Given the description of an element on the screen output the (x, y) to click on. 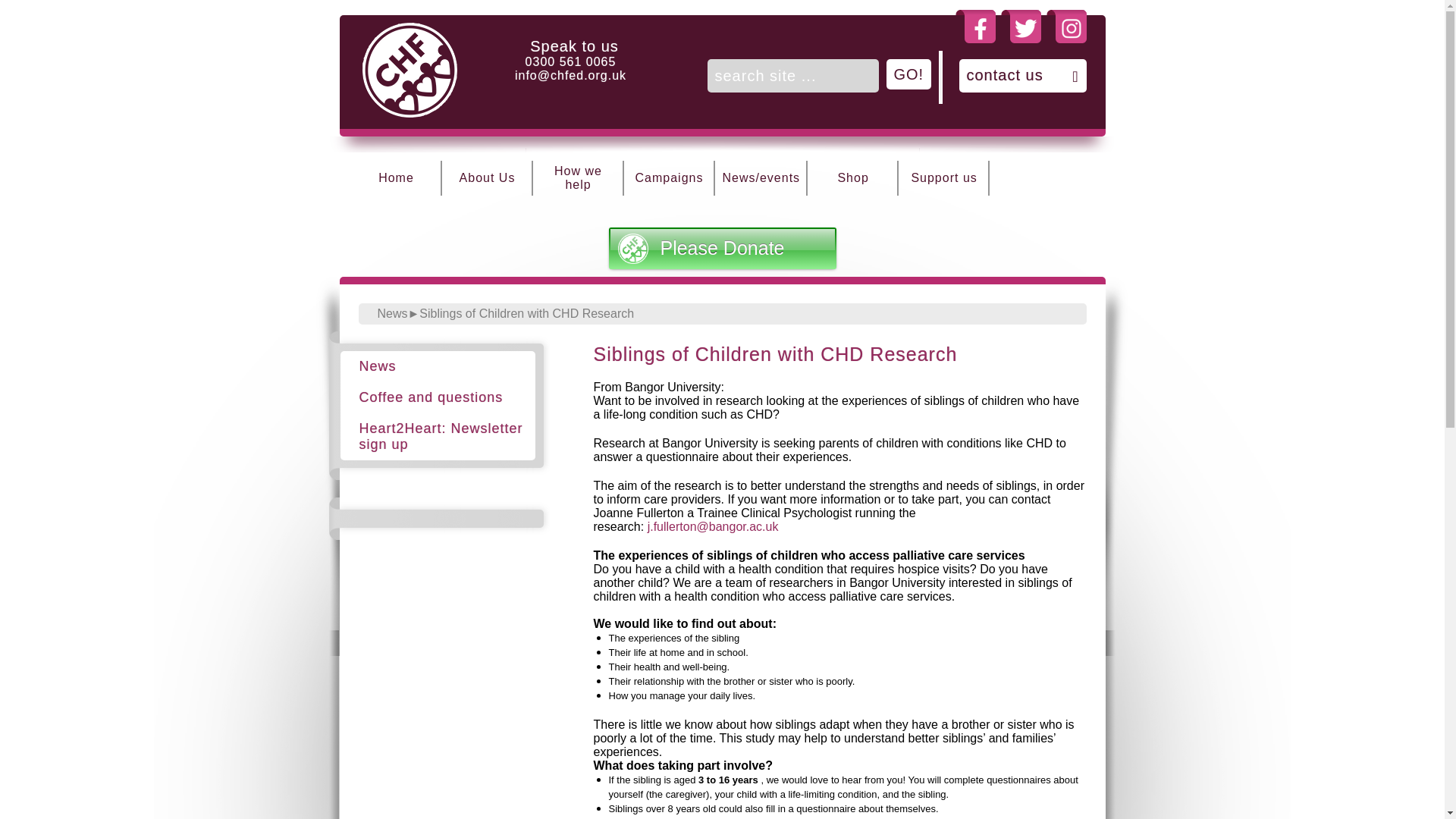
Home (395, 178)
GO! (908, 73)
contact us (1022, 75)
Go to Siblings of Children with CHD Research. (526, 313)
Shop (853, 178)
GO! (908, 73)
Children's Heart Federation (409, 112)
Campaigns (668, 178)
Go to the News category archives. (392, 313)
Support us (944, 178)
How we help (577, 178)
About Us (486, 178)
